Given the description of an element on the screen output the (x, y) to click on. 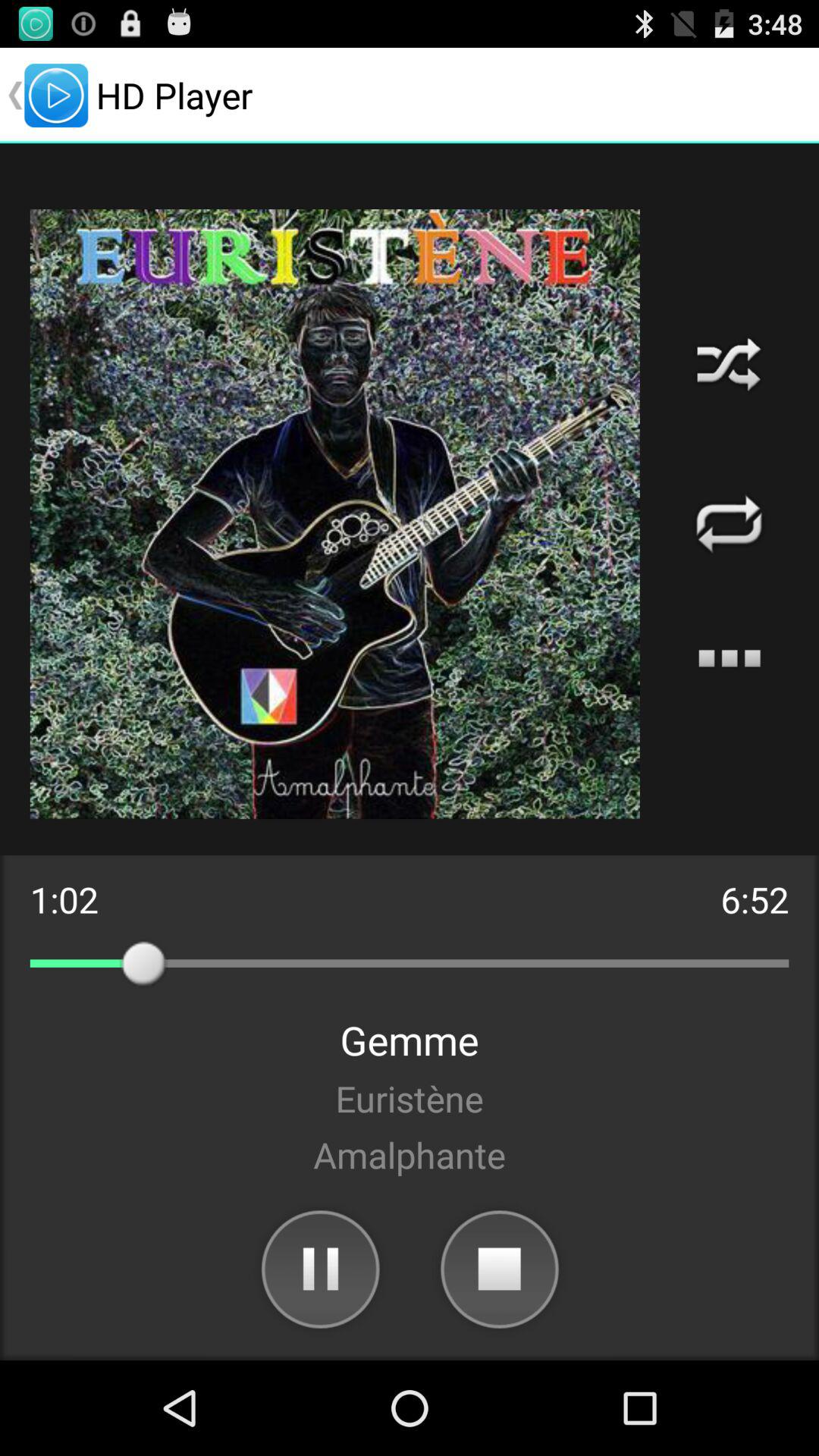
view more options (729, 658)
